Given the description of an element on the screen output the (x, y) to click on. 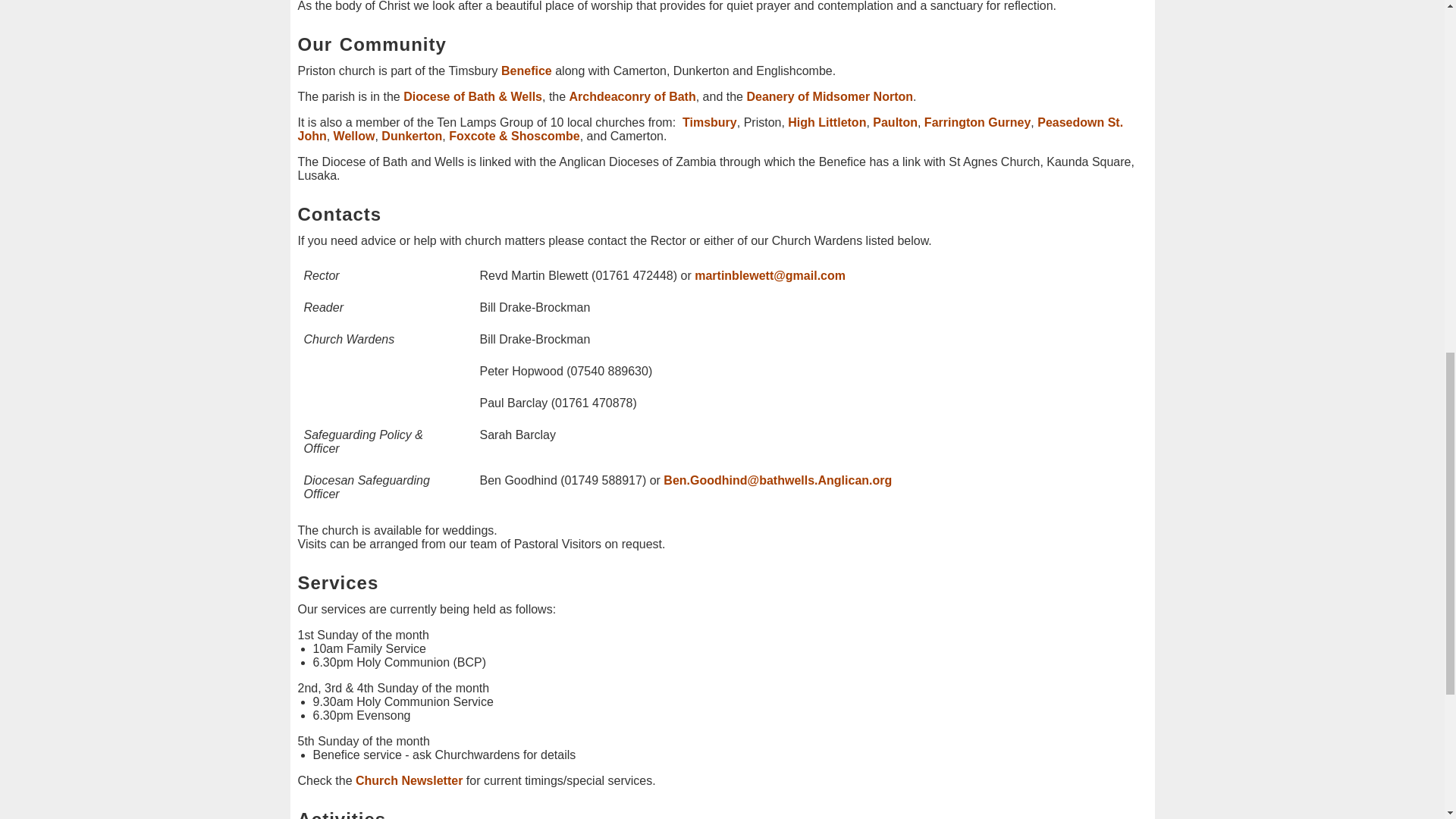
Benefice (525, 70)
Farrington Gurney (977, 122)
High Littleton (826, 122)
Archdeaconry of Bath (632, 96)
Deanery of Midsomer Norton (828, 96)
Peasedown St. John (709, 129)
Wellow (354, 135)
Church Newsletter (409, 780)
Paulton (894, 122)
Dunkerton (411, 135)
Timsbury (709, 122)
